Given the description of an element on the screen output the (x, y) to click on. 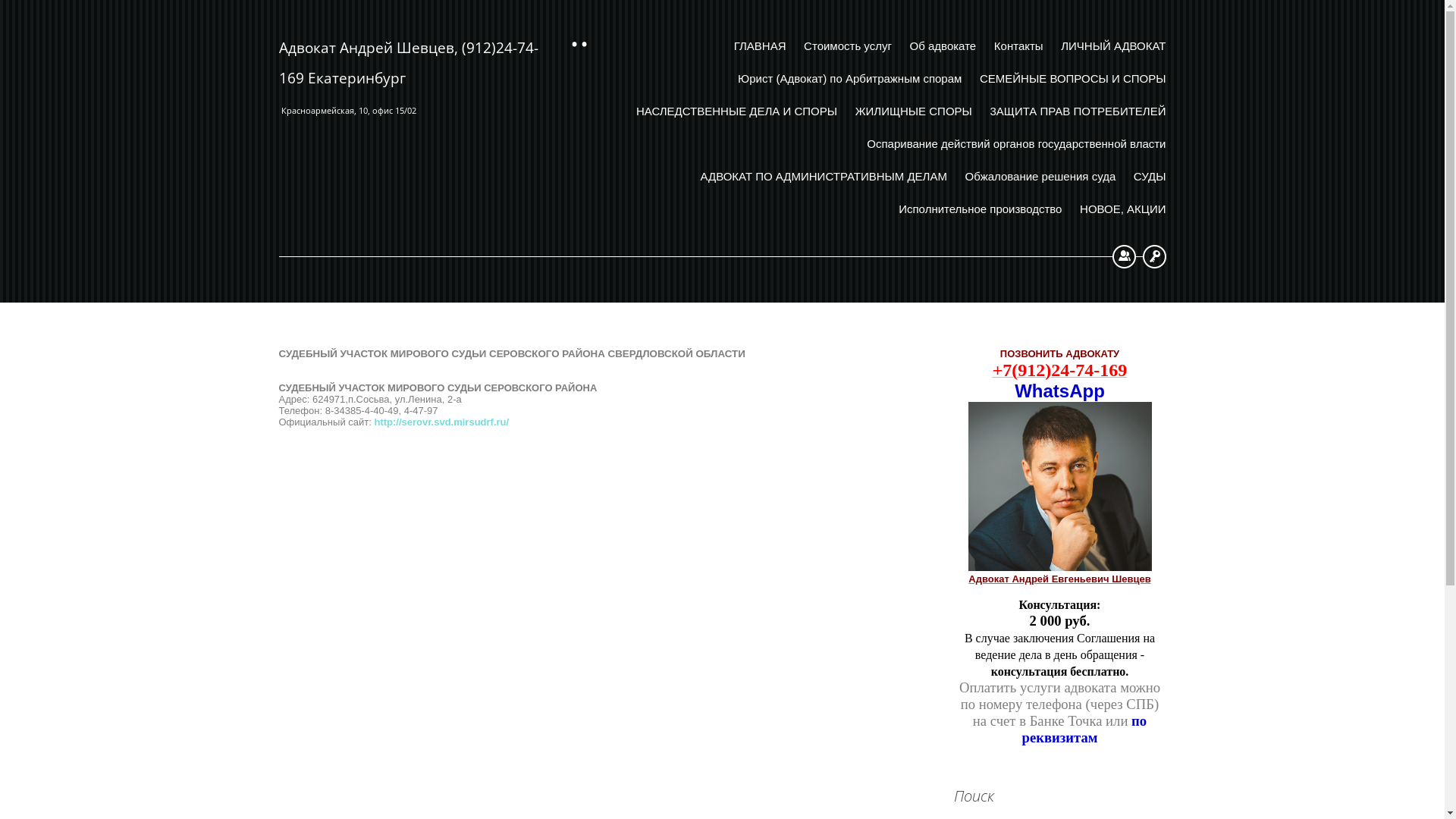
WhatsApp Element type: text (1059, 390)
+7(912)24-74-169 Element type: text (1059, 372)
http://serovr.svd.mirsudrf.ru/ Element type: text (440, 421)
